Given the description of an element on the screen output the (x, y) to click on. 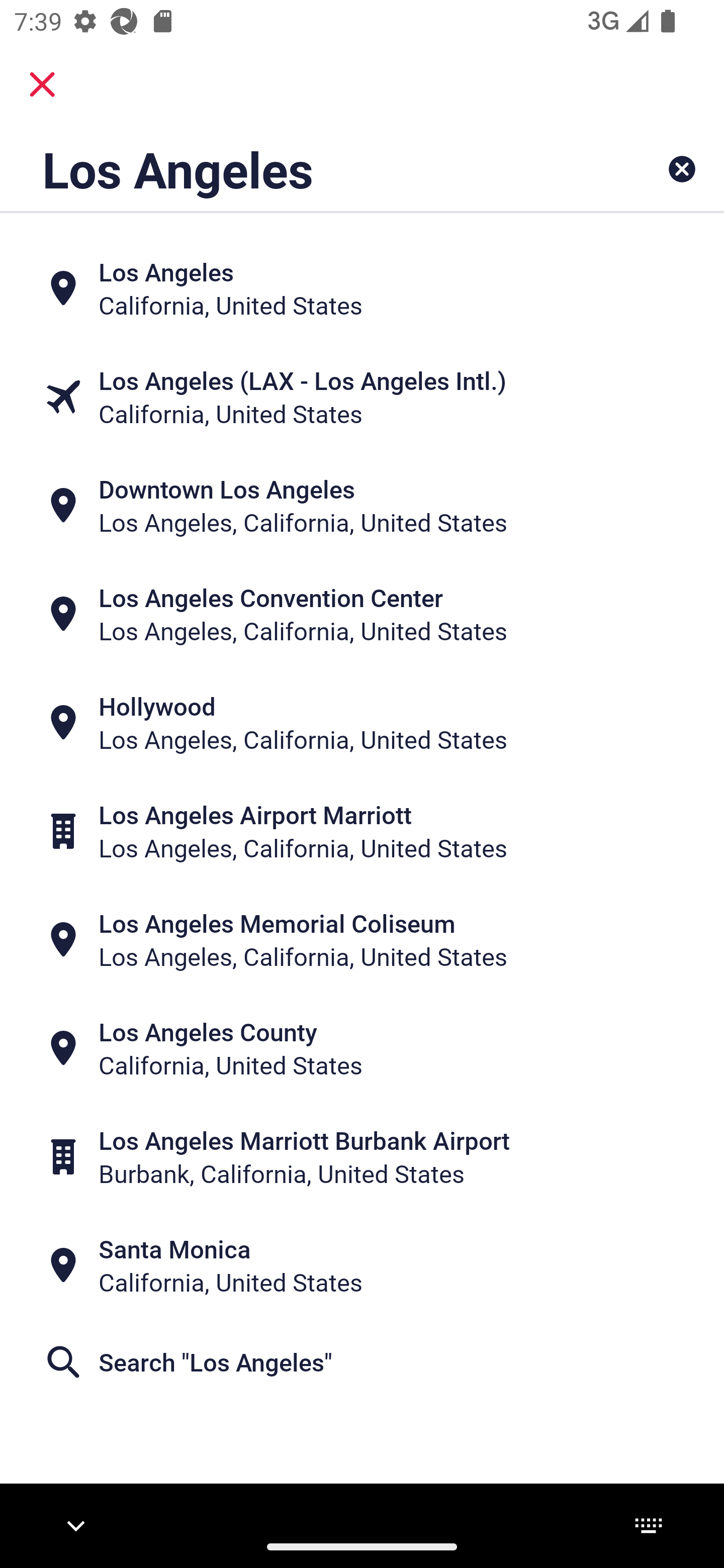
close. (42, 84)
Clear (681, 169)
Los Angeles (298, 169)
Los Angeles California, United States (362, 288)
Hollywood Los Angeles, California, United States (362, 722)
Los Angeles County California, United States (362, 1048)
Santa Monica California, United States (362, 1265)
Search "Los Angeles" (361, 1362)
